Given the description of an element on the screen output the (x, y) to click on. 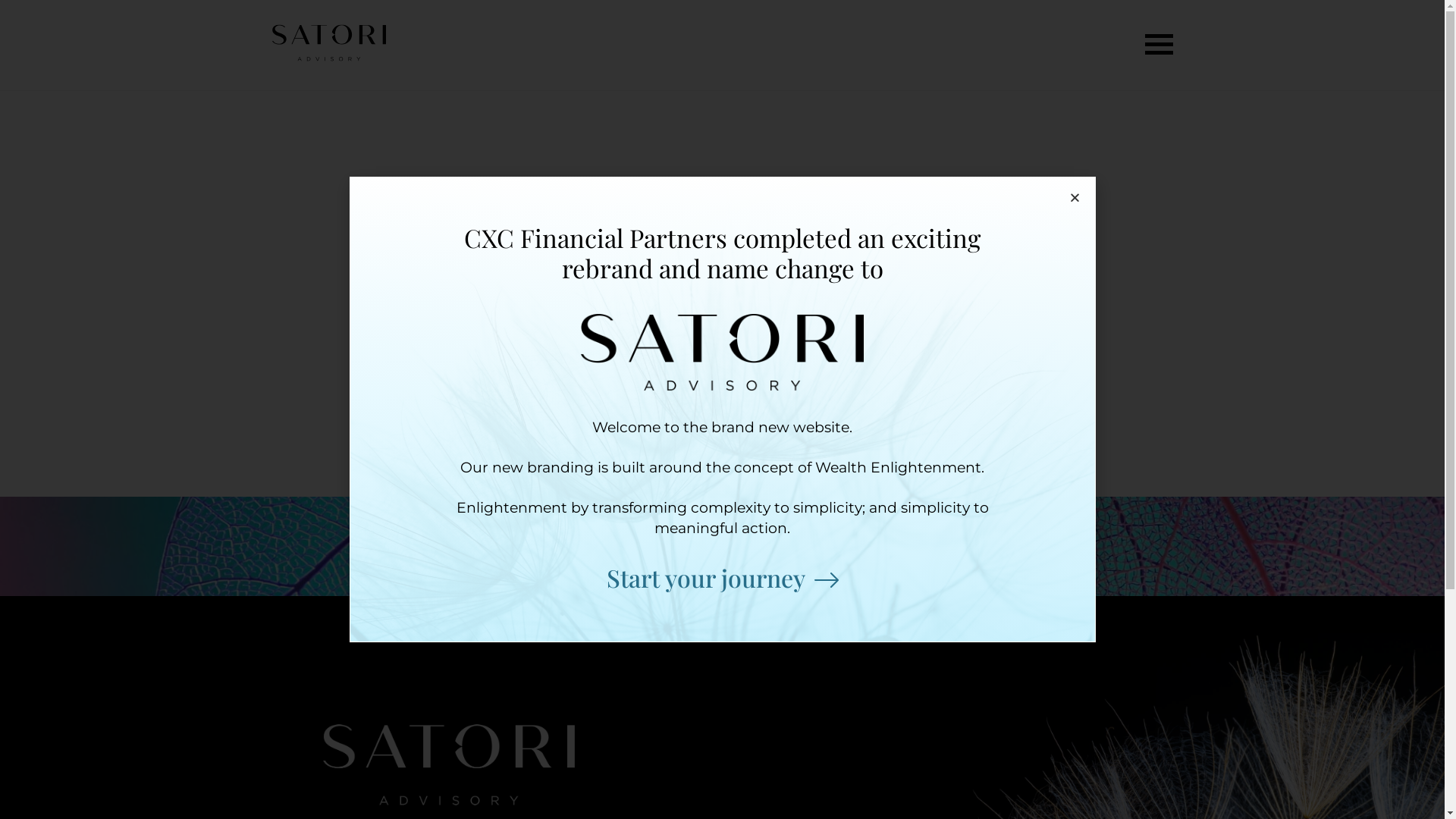
Start your journey Element type: text (722, 578)
